Given the description of an element on the screen output the (x, y) to click on. 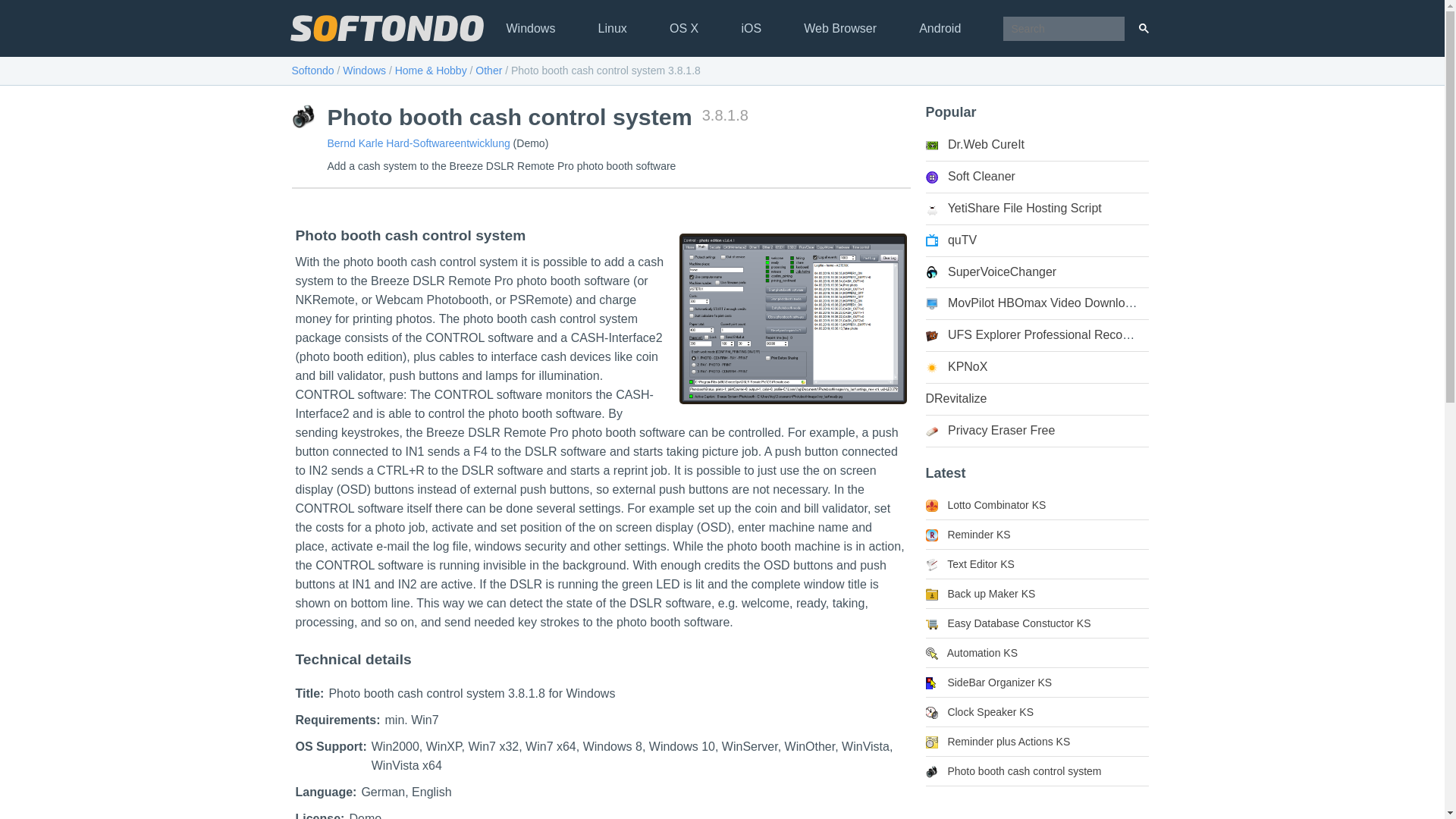
iOS (751, 28)
Android (939, 28)
Softondo (312, 70)
KPNoX (955, 366)
Privacy Eraser Free (989, 430)
YetiShare File Hosting Script (1012, 207)
Dr.Web CureIt (974, 144)
quTV (950, 239)
Text Editor KS (968, 563)
Windows Programs (363, 70)
